Given the description of an element on the screen output the (x, y) to click on. 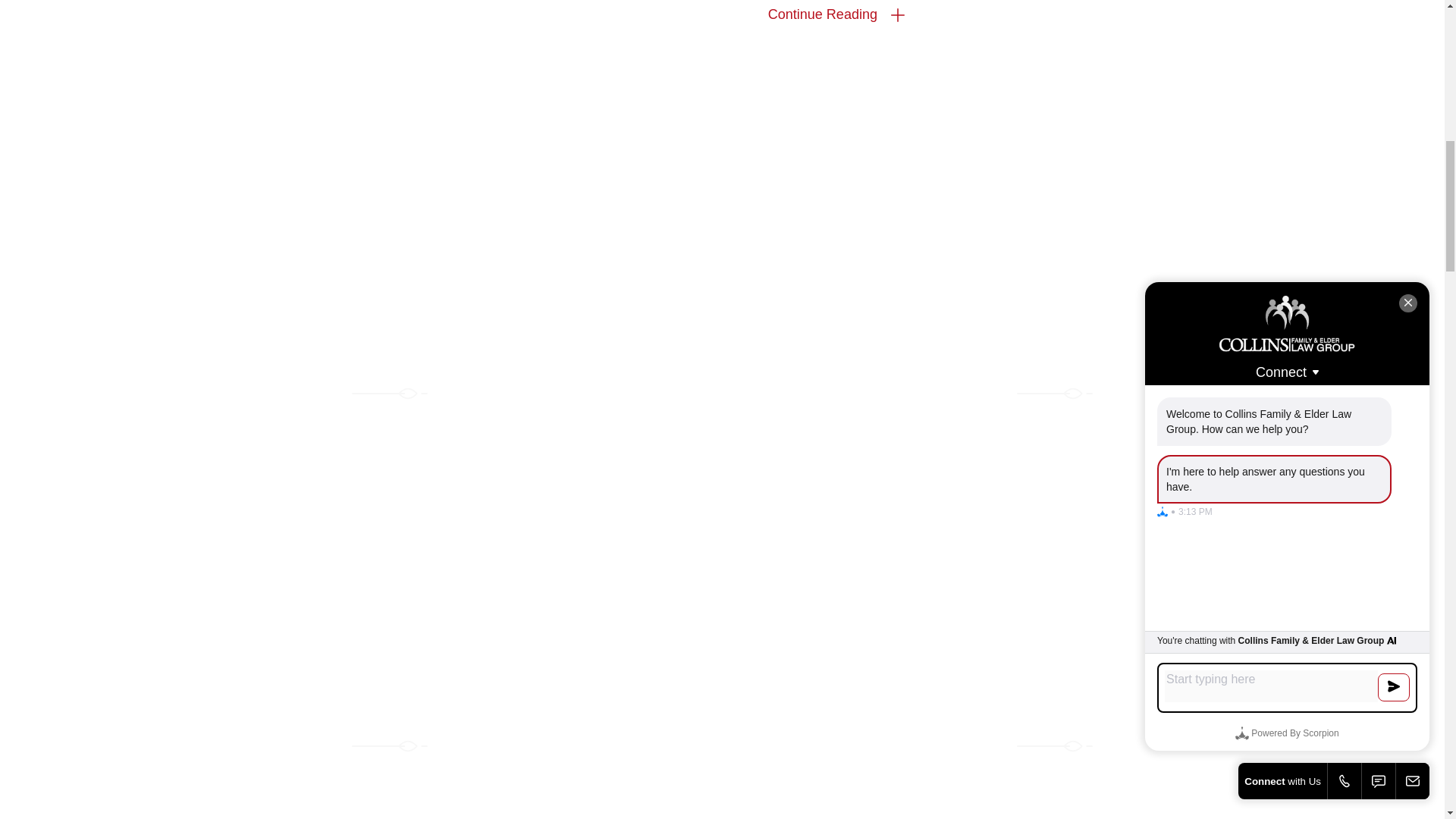
More (897, 15)
